Given the description of an element on the screen output the (x, y) to click on. 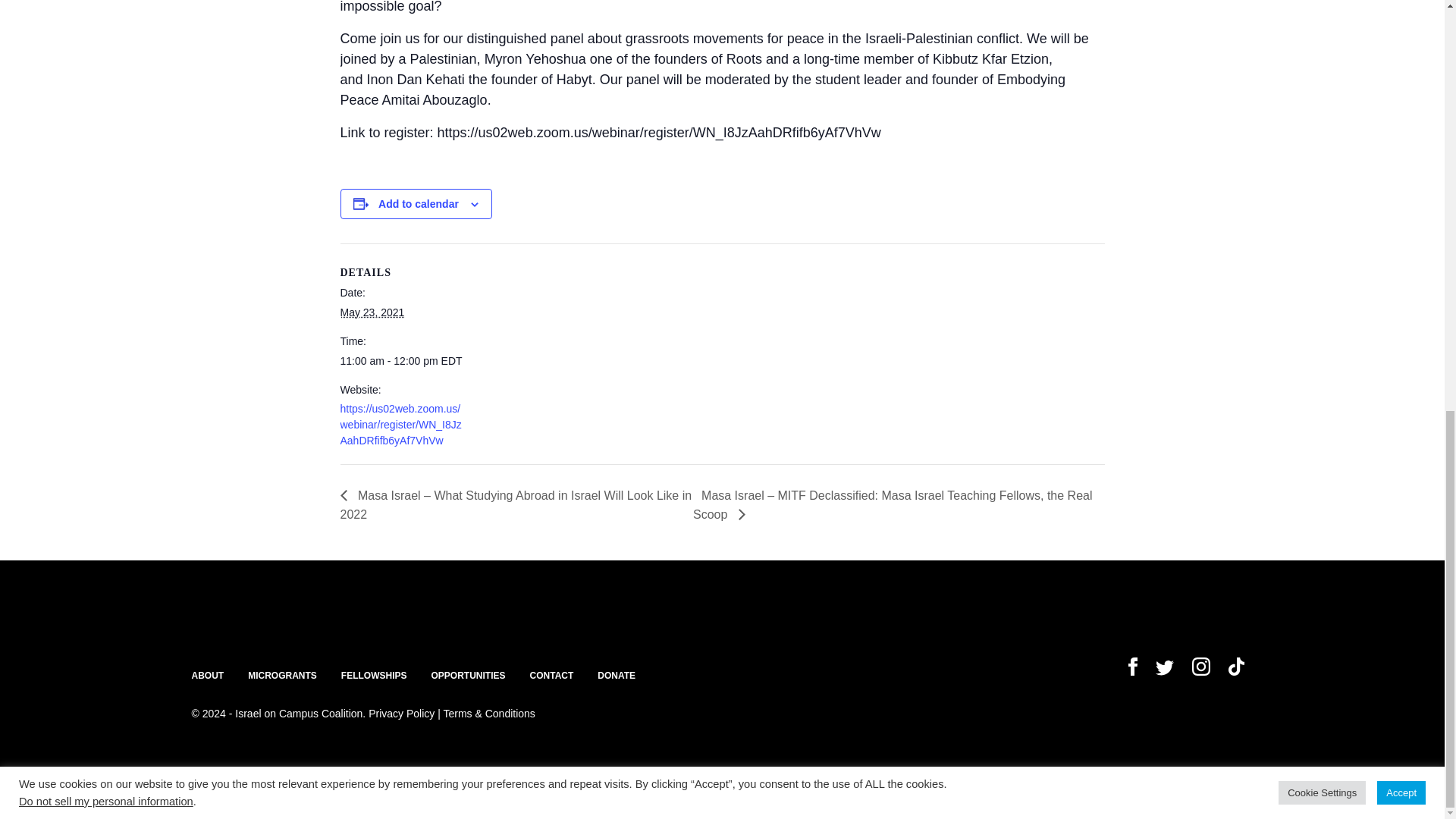
FELLOWSHIPS (373, 675)
ABOUT (207, 675)
OPPORTUNITIES (467, 675)
DONATE (615, 675)
CONTACT (551, 675)
MICROGRANTS (282, 675)
Privacy Policy (400, 713)
2021-05-23 (403, 360)
2021-05-23 (371, 312)
Add to calendar (418, 203)
